Given the description of an element on the screen output the (x, y) to click on. 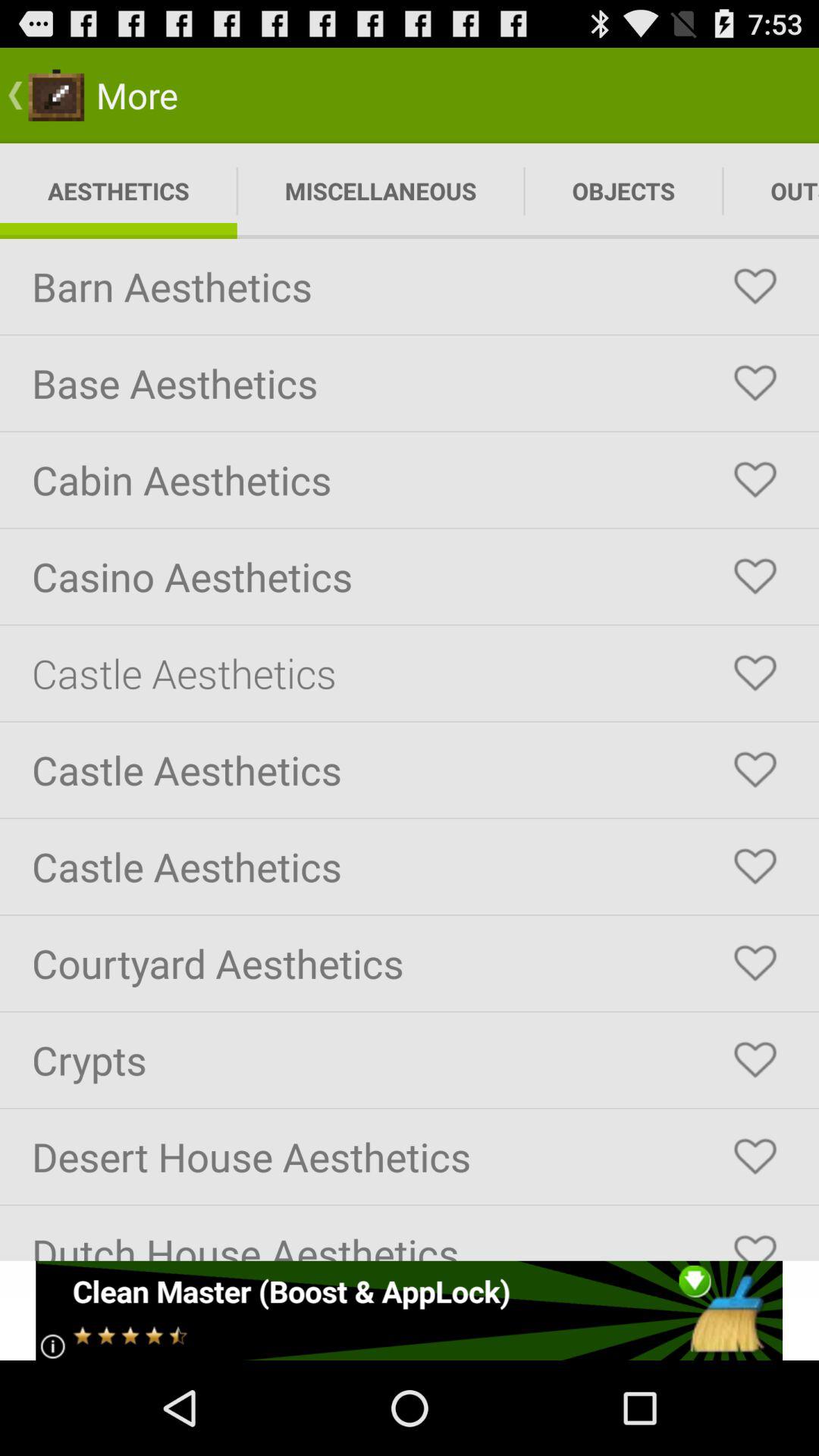
favorite cabin aesthetics (755, 479)
